Given the description of an element on the screen output the (x, y) to click on. 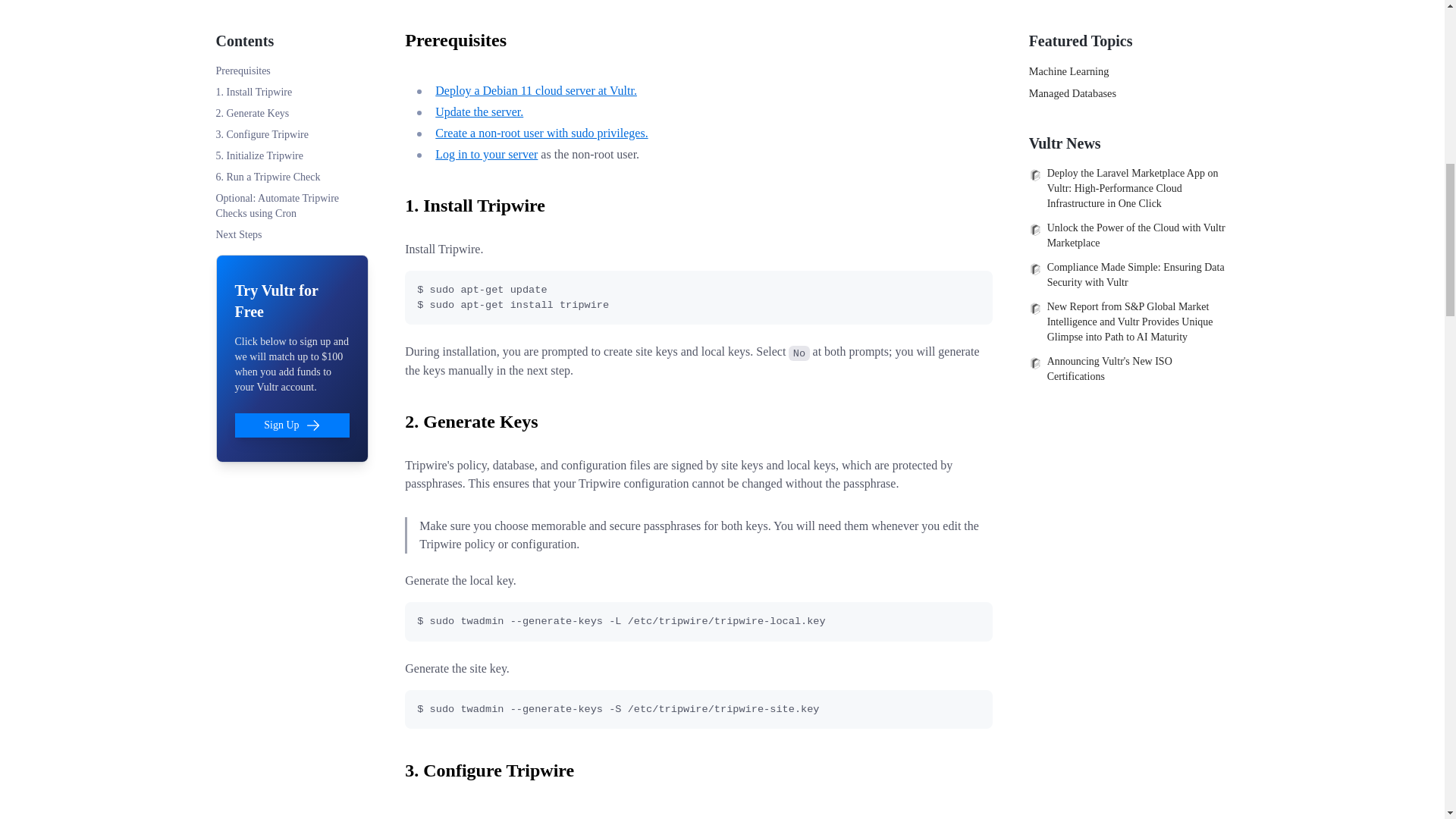
Log in to your server (486, 154)
Deploy a Debian 11 cloud server at Vultr. (536, 90)
Update the server. (478, 111)
Create a non-root user with sudo privileges. (541, 132)
